Given the description of an element on the screen output the (x, y) to click on. 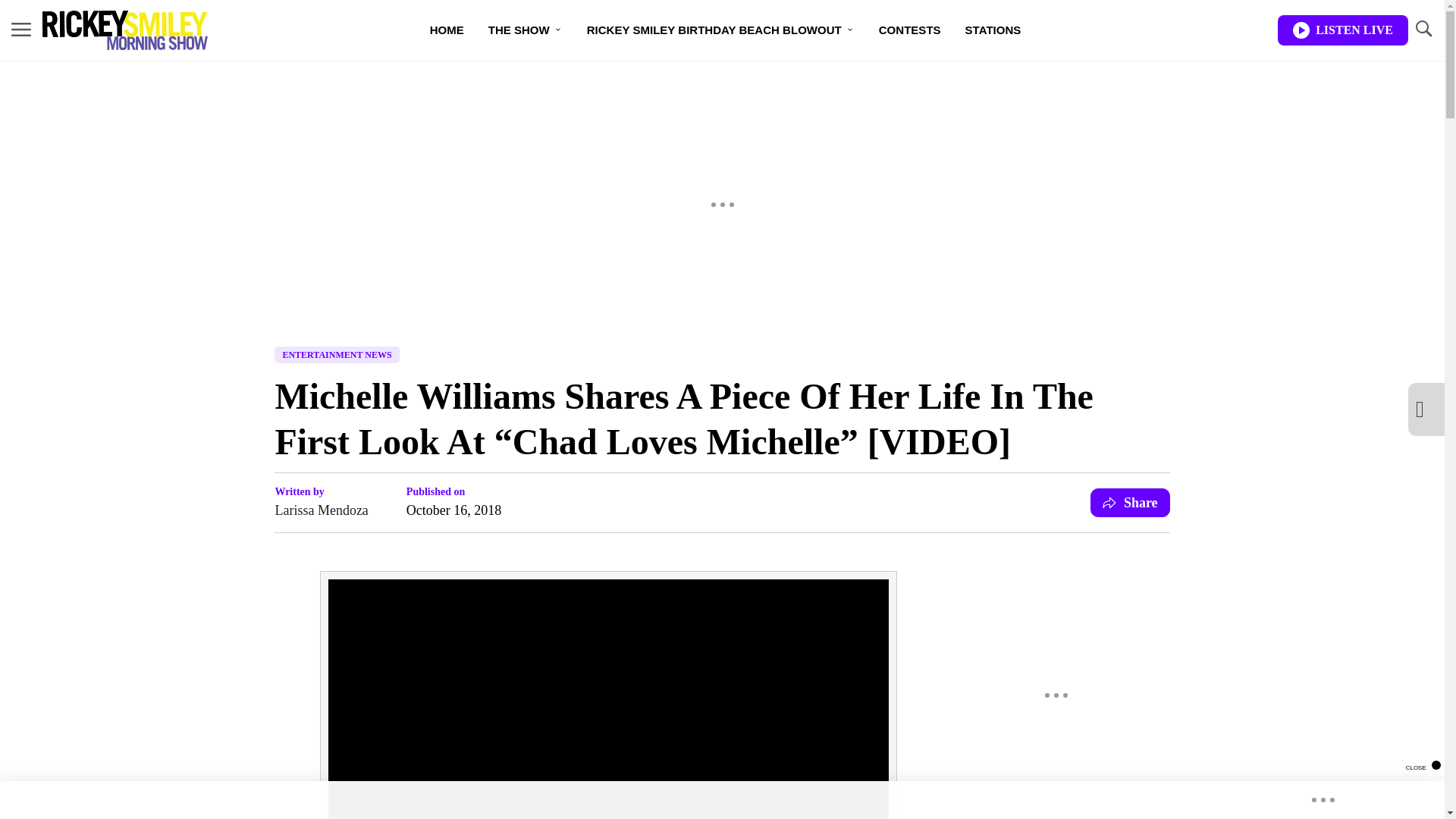
THE SHOW (525, 30)
MENU (20, 29)
MENU (20, 30)
RICKEY SMILEY BIRTHDAY BEACH BLOWOUT (720, 30)
TOGGLE SEARCH (1422, 28)
STATIONS (993, 30)
Stations (993, 30)
CONTESTS (909, 30)
Larissa Mendoza (321, 509)
TOGGLE SEARCH (1422, 30)
